Given the description of an element on the screen output the (x, y) to click on. 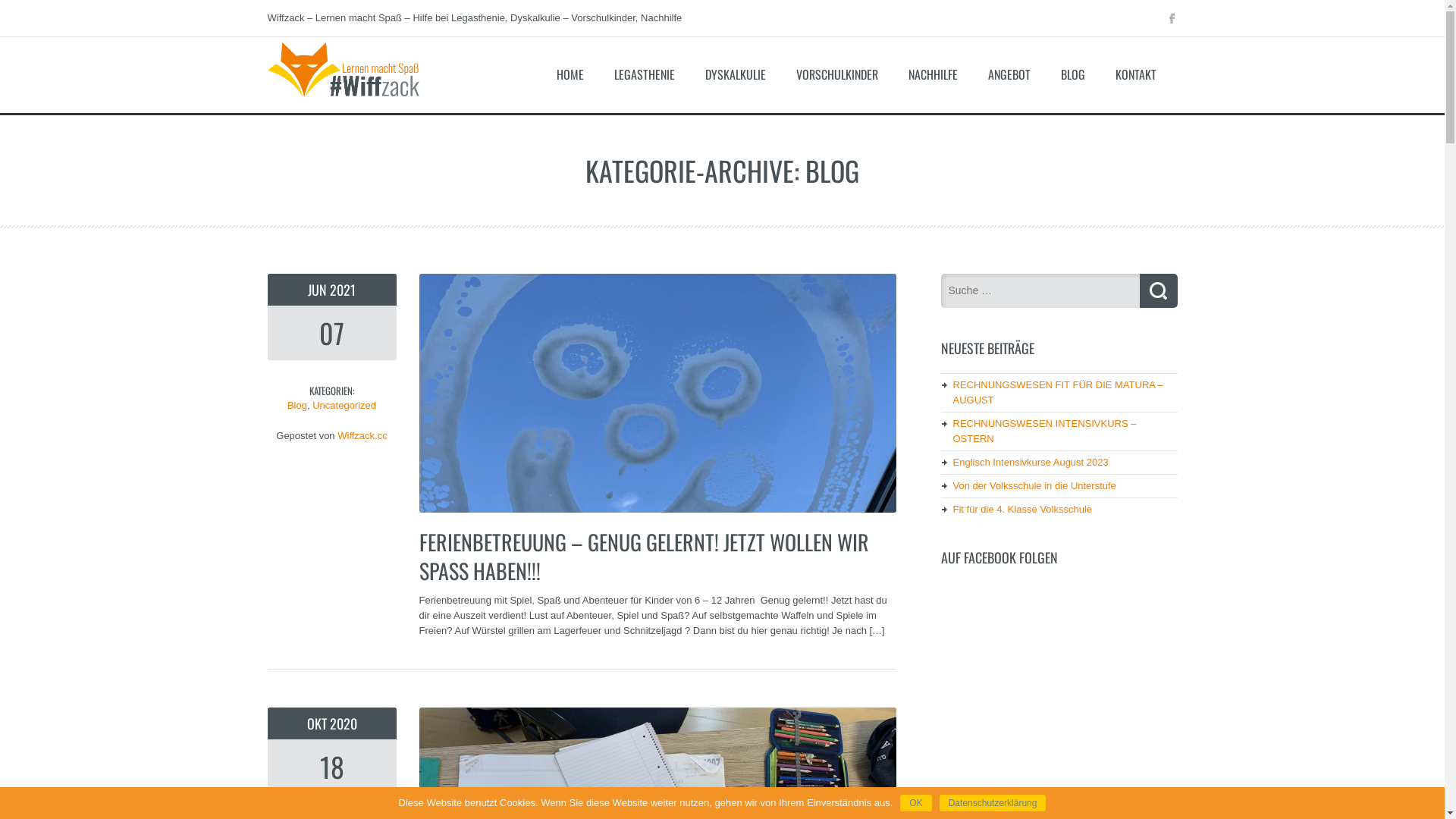
Suche nach: Element type: hover (1039, 290)
Blog Element type: text (297, 405)
NACHHILFE Element type: text (932, 74)
BLOG Element type: text (1072, 74)
VORSCHULKINDER Element type: text (837, 74)
OK Element type: text (915, 802)
18 Element type: text (330, 769)
Von der Volksschule in die Unterstufe Element type: text (1033, 485)
KONTAKT Element type: text (1135, 74)
JUN Element type: text (318, 289)
LEGASTHENIE Element type: text (644, 74)
Wiffzack.cc Element type: text (362, 435)
ANGEBOT Element type: text (1009, 74)
Uncategorized Element type: text (344, 405)
2020 Element type: text (342, 723)
2021 Element type: text (342, 289)
Wiffzack.cc Element type: hover (342, 100)
07 Element type: text (330, 336)
HOME Element type: text (569, 74)
Suche Element type: text (1157, 290)
Englisch Intensivkurse August 2023 Element type: text (1029, 461)
DYSKALKULIE Element type: text (735, 74)
OKT Element type: text (317, 723)
